Given the description of an element on the screen output the (x, y) to click on. 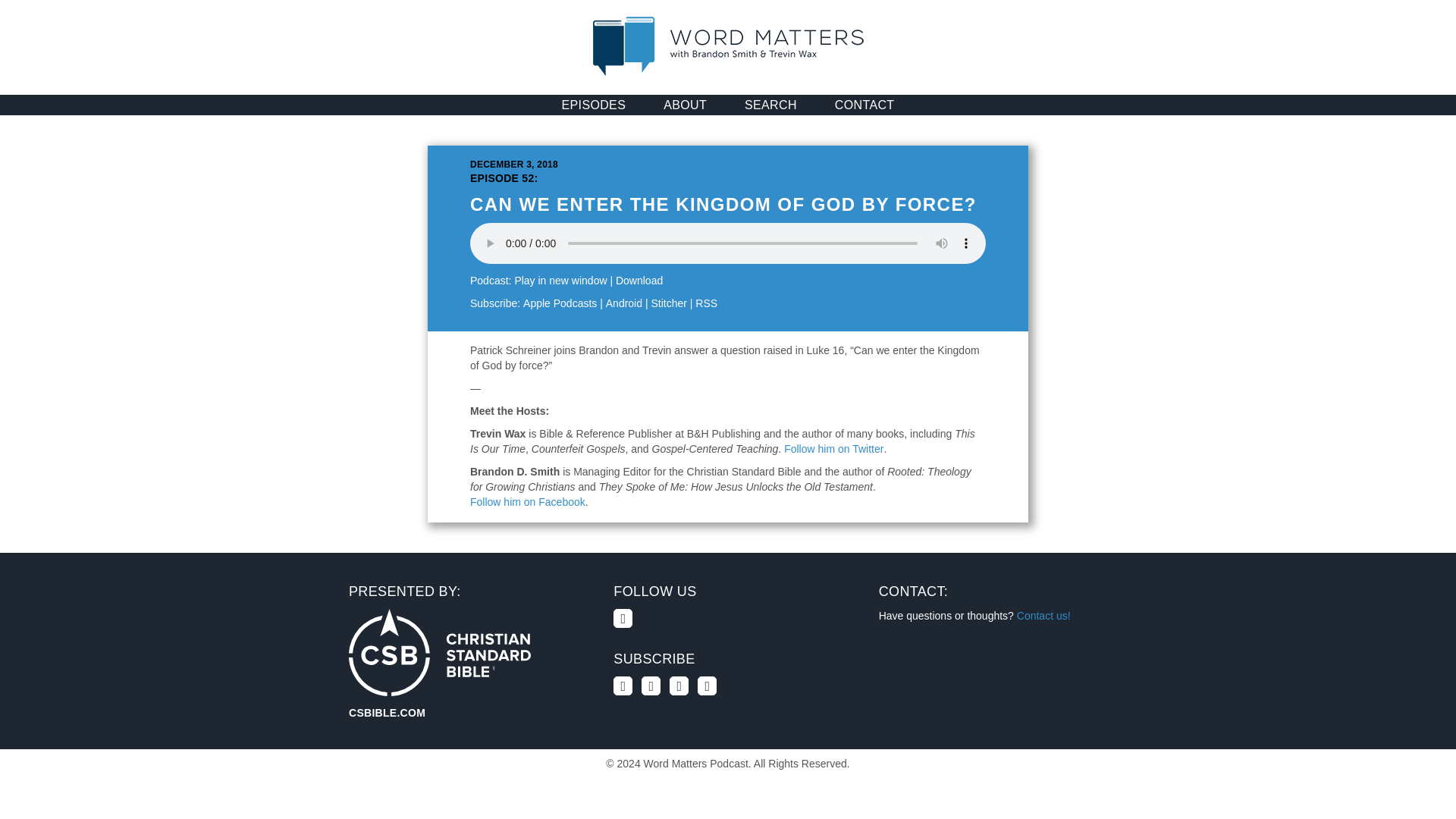
Download (638, 281)
Subscribe on Android (623, 304)
Follow him on Twitter (833, 449)
CSBIBLE.COM (440, 652)
Subscribe on Apple Podcasts (559, 304)
ABOUT (685, 105)
Subscribe on Stitcher (667, 304)
Apple Podcasts (559, 304)
SEARCH (770, 105)
Download (638, 281)
Android (623, 304)
RSS (706, 304)
Follow him on Facebook (527, 502)
Stitcher (667, 304)
EPISODES (594, 105)
